Given the description of an element on the screen output the (x, y) to click on. 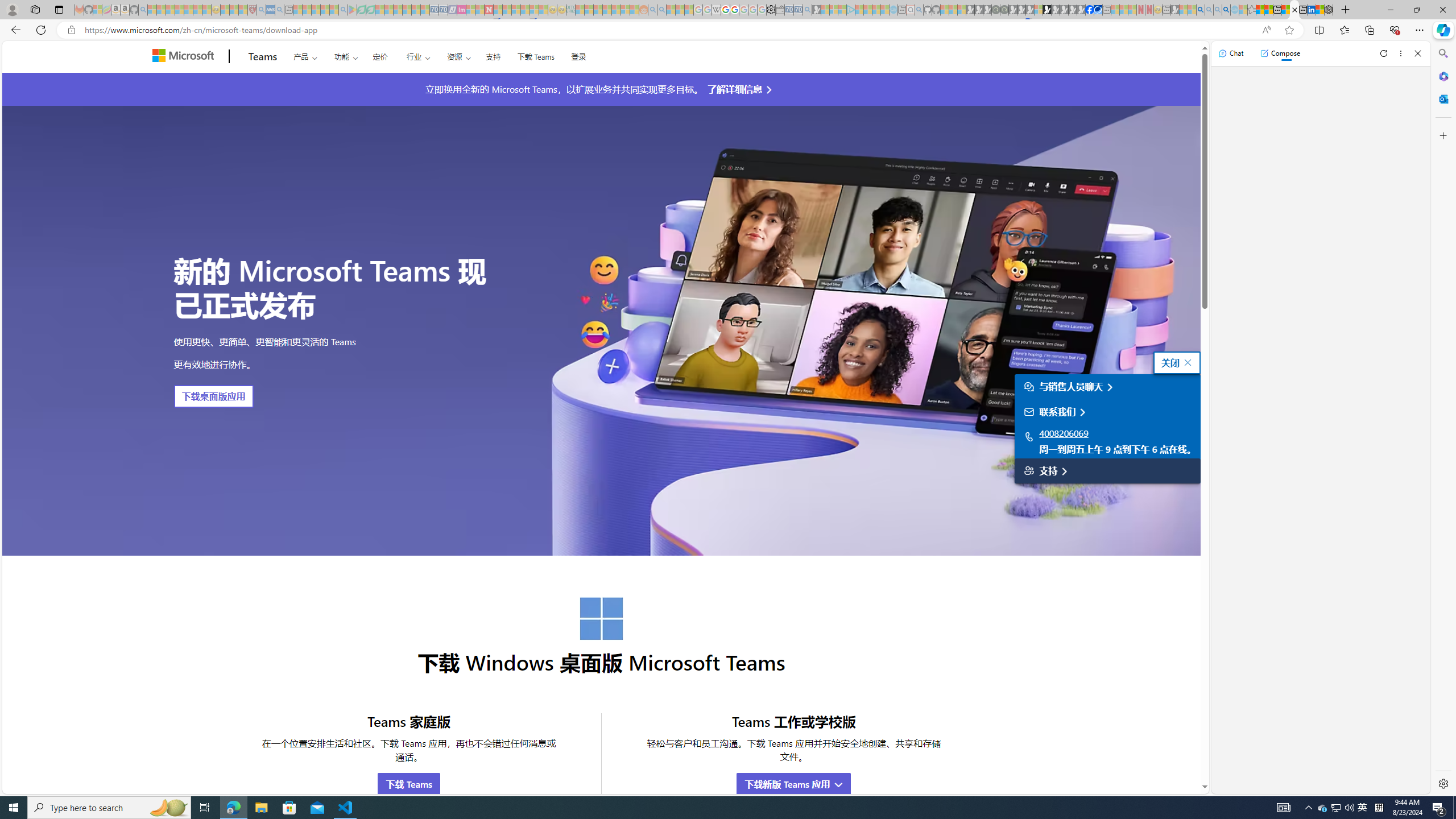
Future Focus Report 2024 - Sleeping (1004, 9)
github - Search - Sleeping (919, 9)
